Given the description of an element on the screen output the (x, y) to click on. 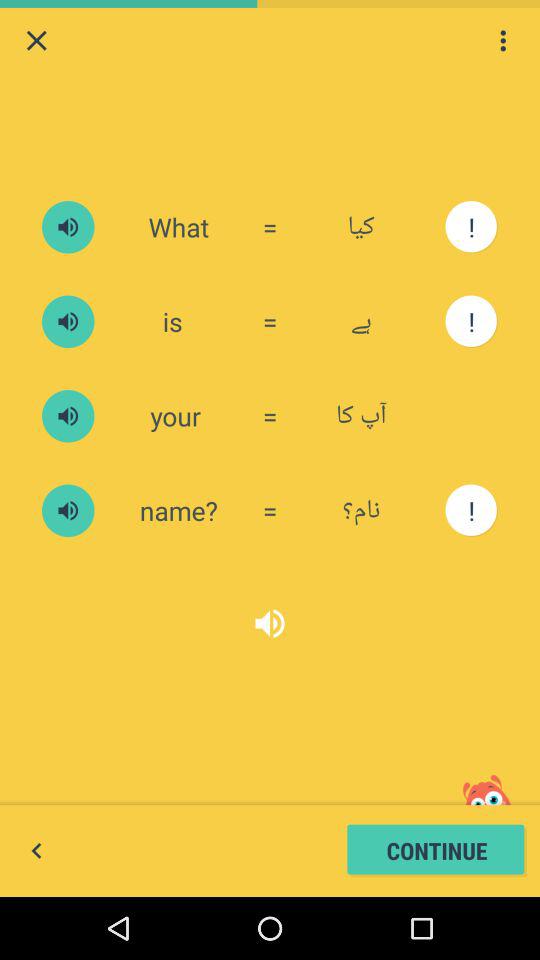
open extra options (503, 40)
